Given the description of an element on the screen output the (x, y) to click on. 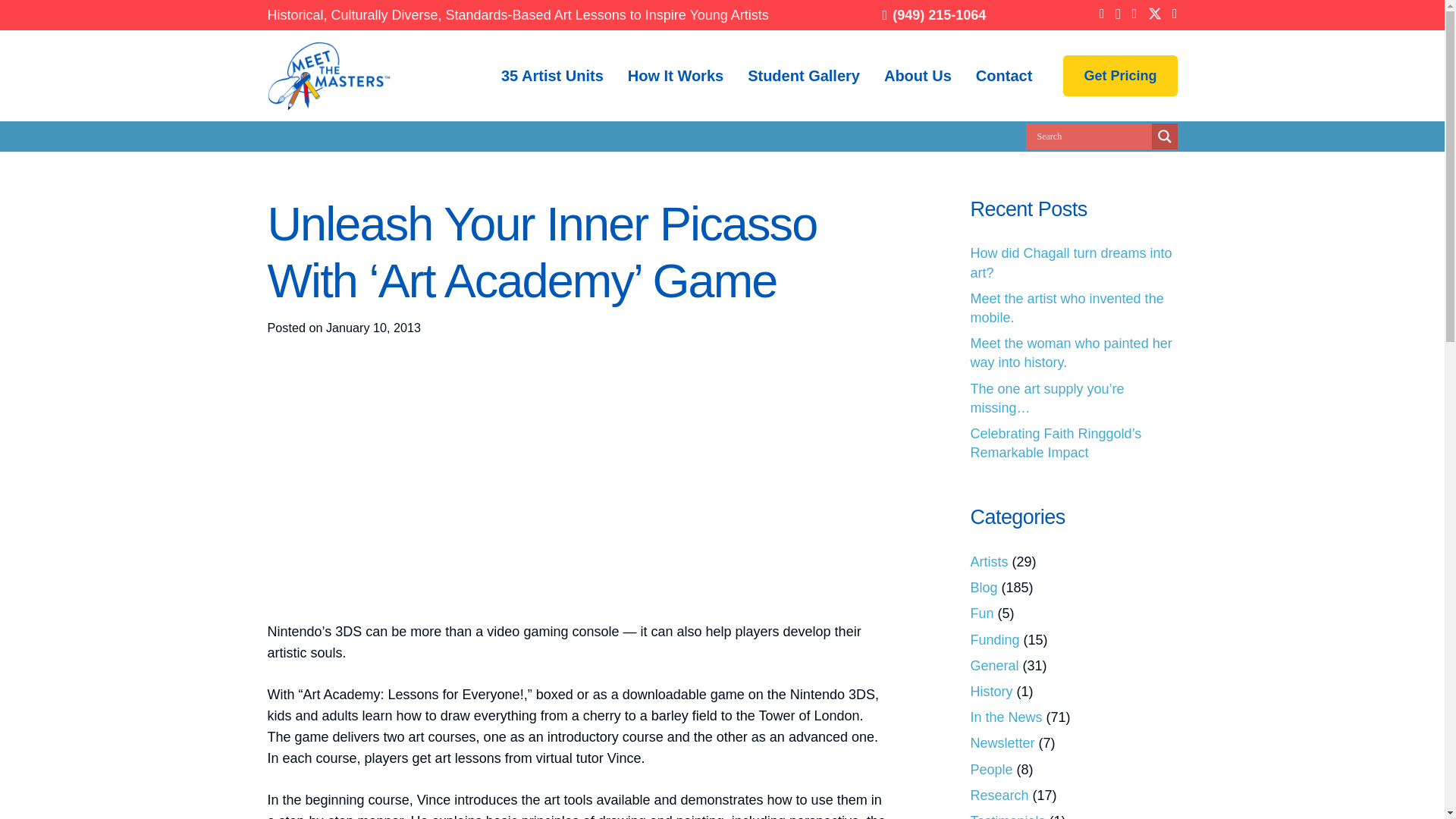
How It Works (675, 75)
Artists (990, 561)
Fun (982, 613)
Student Gallery (803, 75)
35 Artist Units (552, 75)
About Us (917, 75)
Twitter (1154, 13)
Meet the woman who painted her way into history. (1071, 352)
How did Chagall turn dreams into art? (1071, 262)
Meet the artist who invented the mobile. (1067, 308)
Get Pricing (1119, 75)
Blog (984, 587)
